Given the description of an element on the screen output the (x, y) to click on. 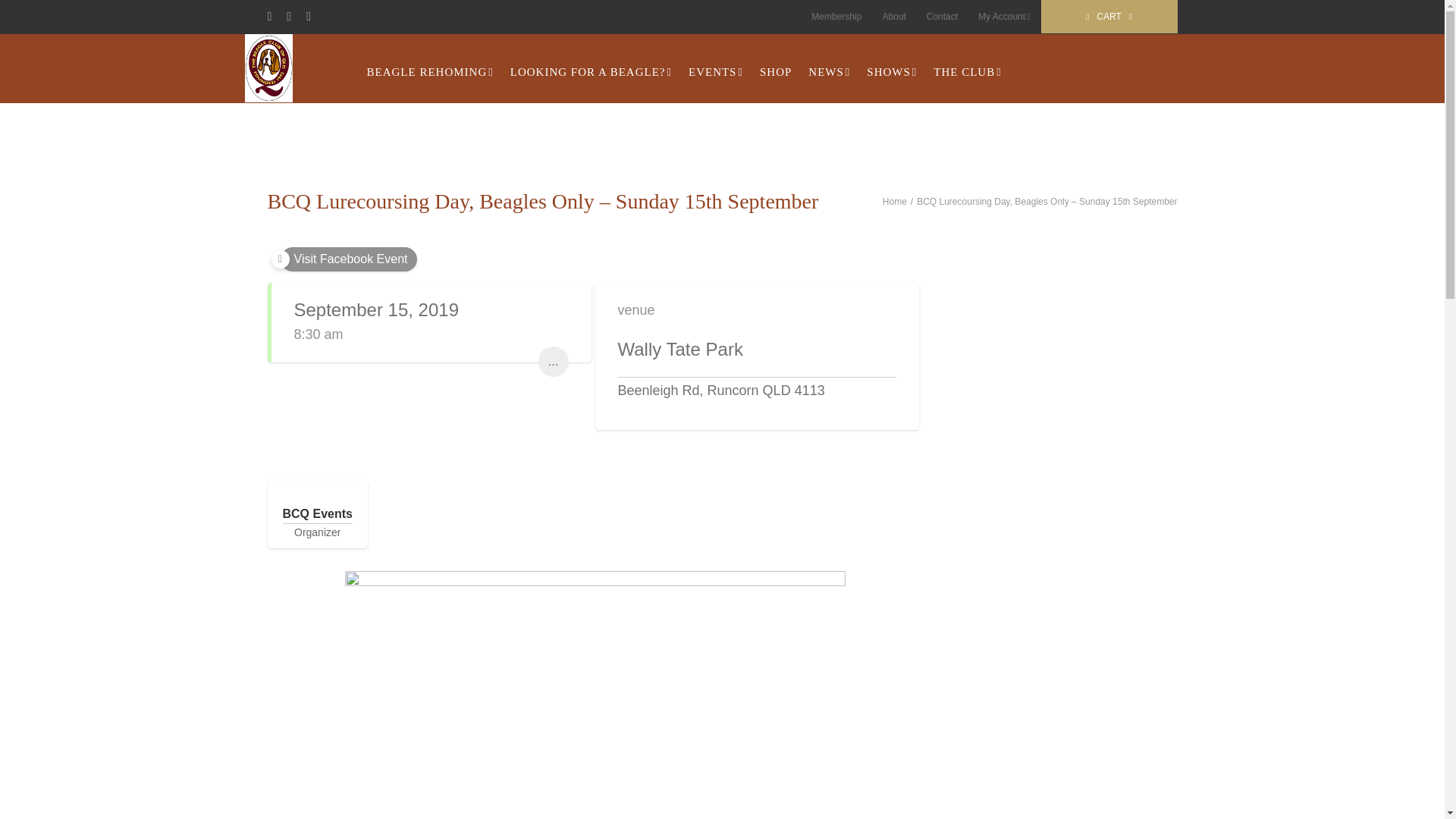
My Account (1003, 16)
LOOKING FOR A BEAGLE? (590, 71)
Log In (1061, 144)
BEAGLE REHOMING (429, 71)
Contact (942, 16)
About (893, 16)
CART (1109, 16)
NEWS (829, 71)
EVENTS (715, 71)
Membership (836, 16)
SHOWS (891, 71)
